Given the description of an element on the screen output the (x, y) to click on. 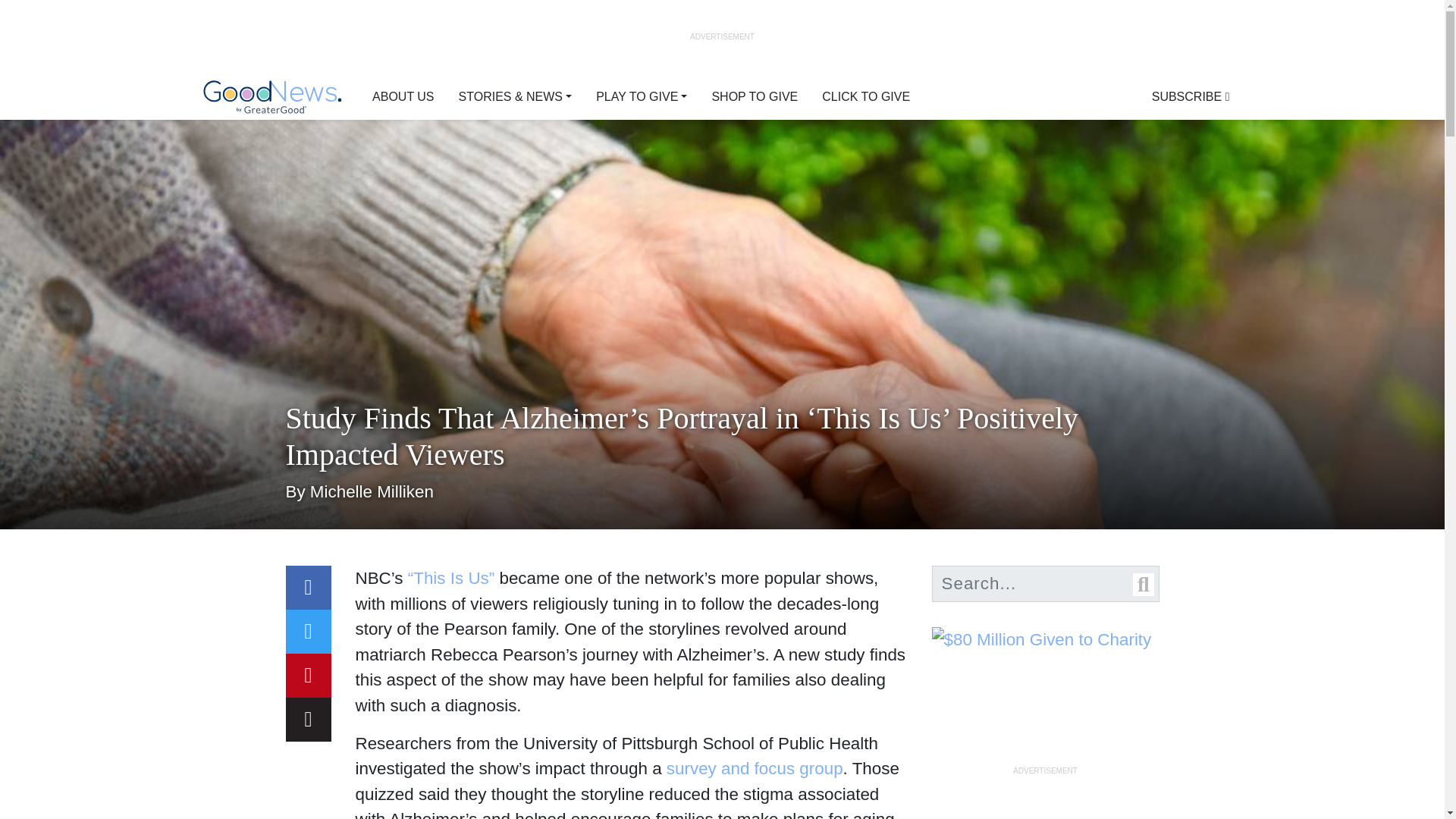
ABOUT US (402, 96)
Michelle Milliken (371, 491)
SHOP TO GIVE (753, 96)
survey and focus group (754, 768)
PLAY TO GIVE (640, 96)
SUBSCRIBE (1190, 96)
CLICK TO GIVE (865, 96)
